Given the description of an element on the screen output the (x, y) to click on. 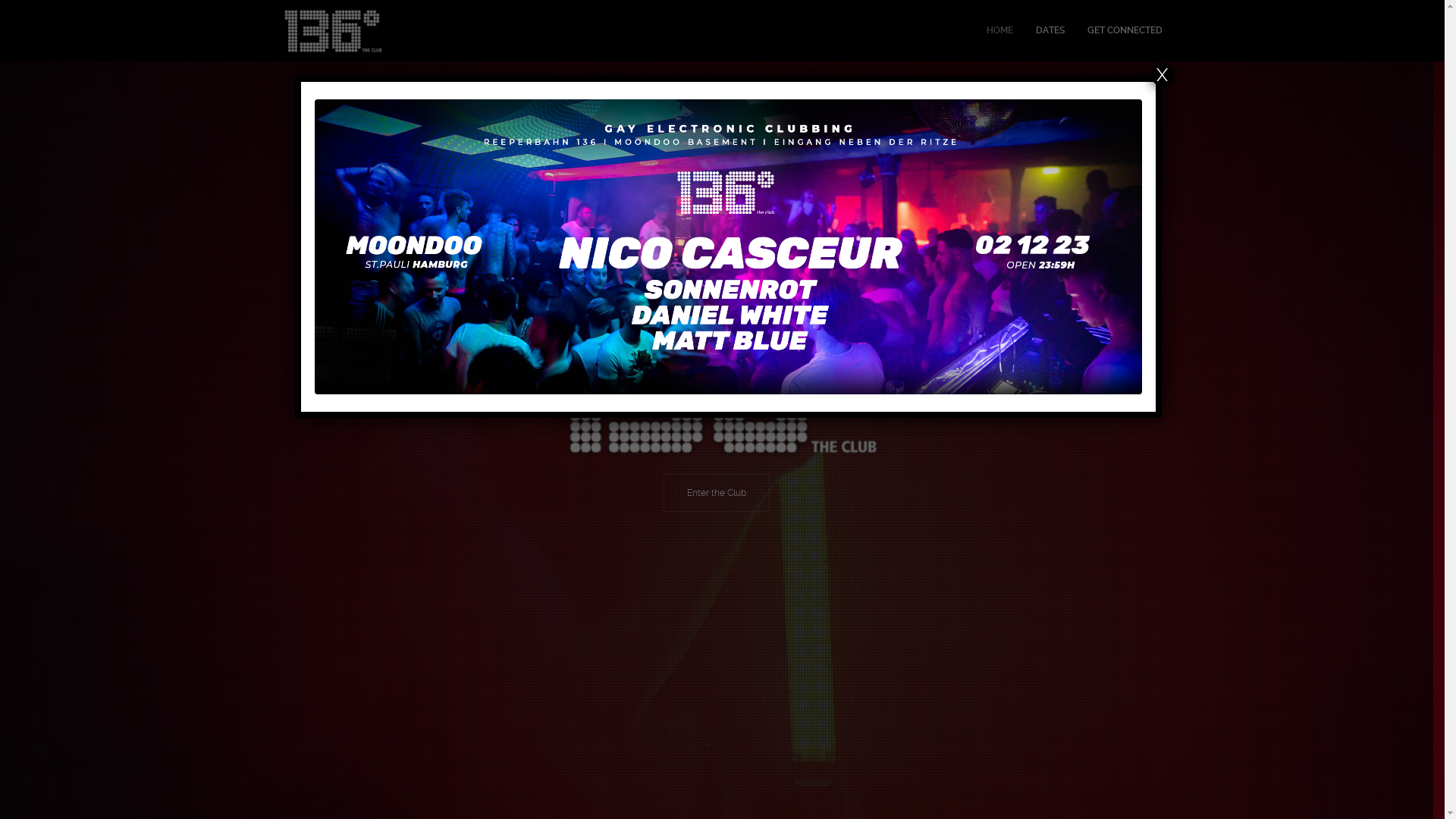
HOME Element type: text (999, 30)
Enter the Club Element type: text (716, 492)
DATES Element type: text (1049, 30)
X Element type: text (1162, 74)
GET CONNECTED Element type: text (1118, 30)
